Given the description of an element on the screen output the (x, y) to click on. 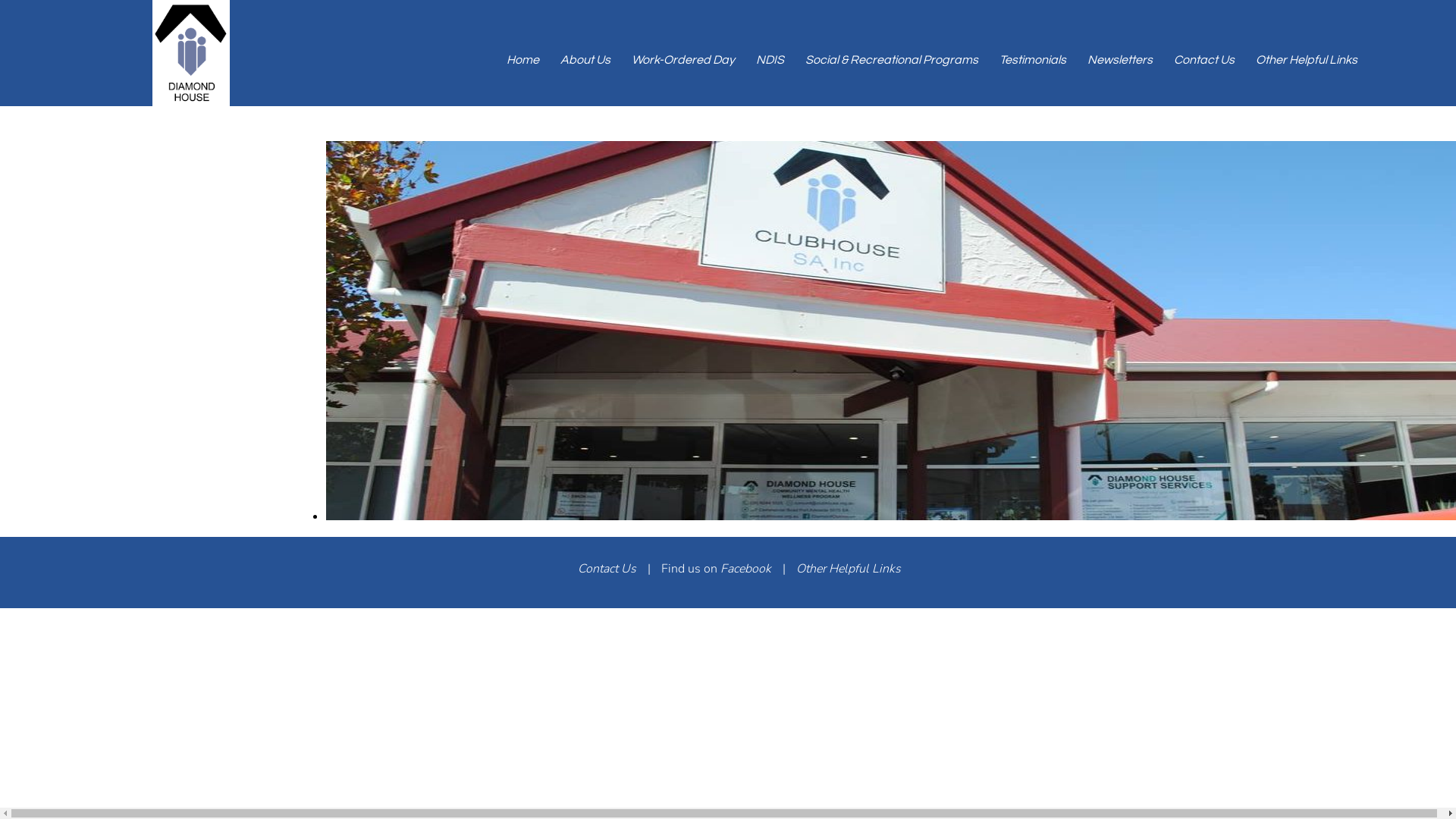
Contact Us Element type: text (1203, 59)
Other Helpful Links Element type: text (1306, 59)
Facebook Element type: text (745, 568)
Contact Us Element type: text (606, 568)
NDIS Element type: text (769, 59)
Work-Ordered Day Element type: text (683, 59)
Testimonials Element type: text (1032, 59)
About Us Element type: text (585, 59)
Newsletters Element type: text (1120, 59)
Other Helpful Links Element type: text (848, 568)
Home Element type: text (522, 59)
Social & Recreational Programs Element type: text (891, 59)
